Given the description of an element on the screen output the (x, y) to click on. 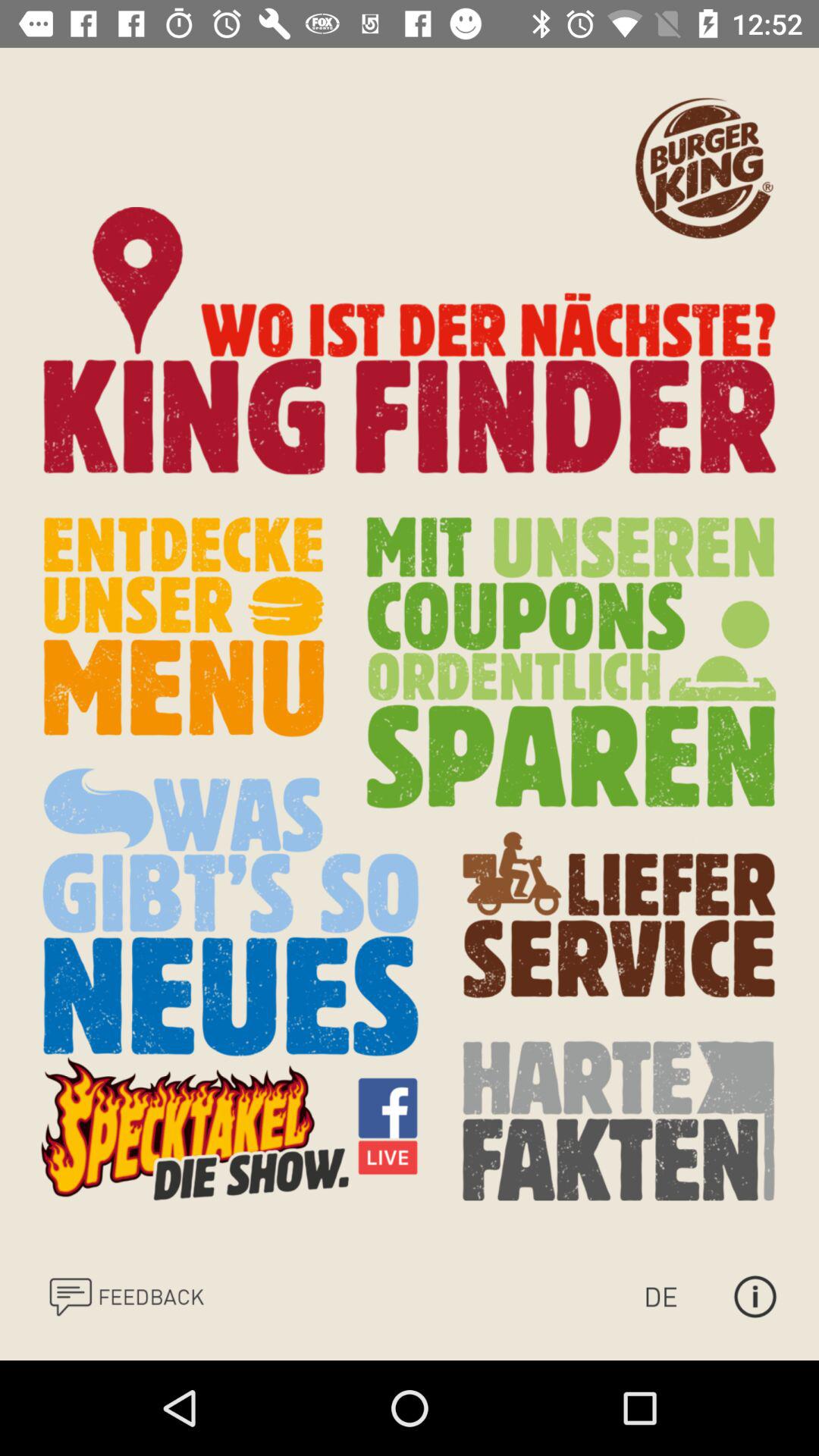
give feedback (126, 1296)
